Given the description of an element on the screen output the (x, y) to click on. 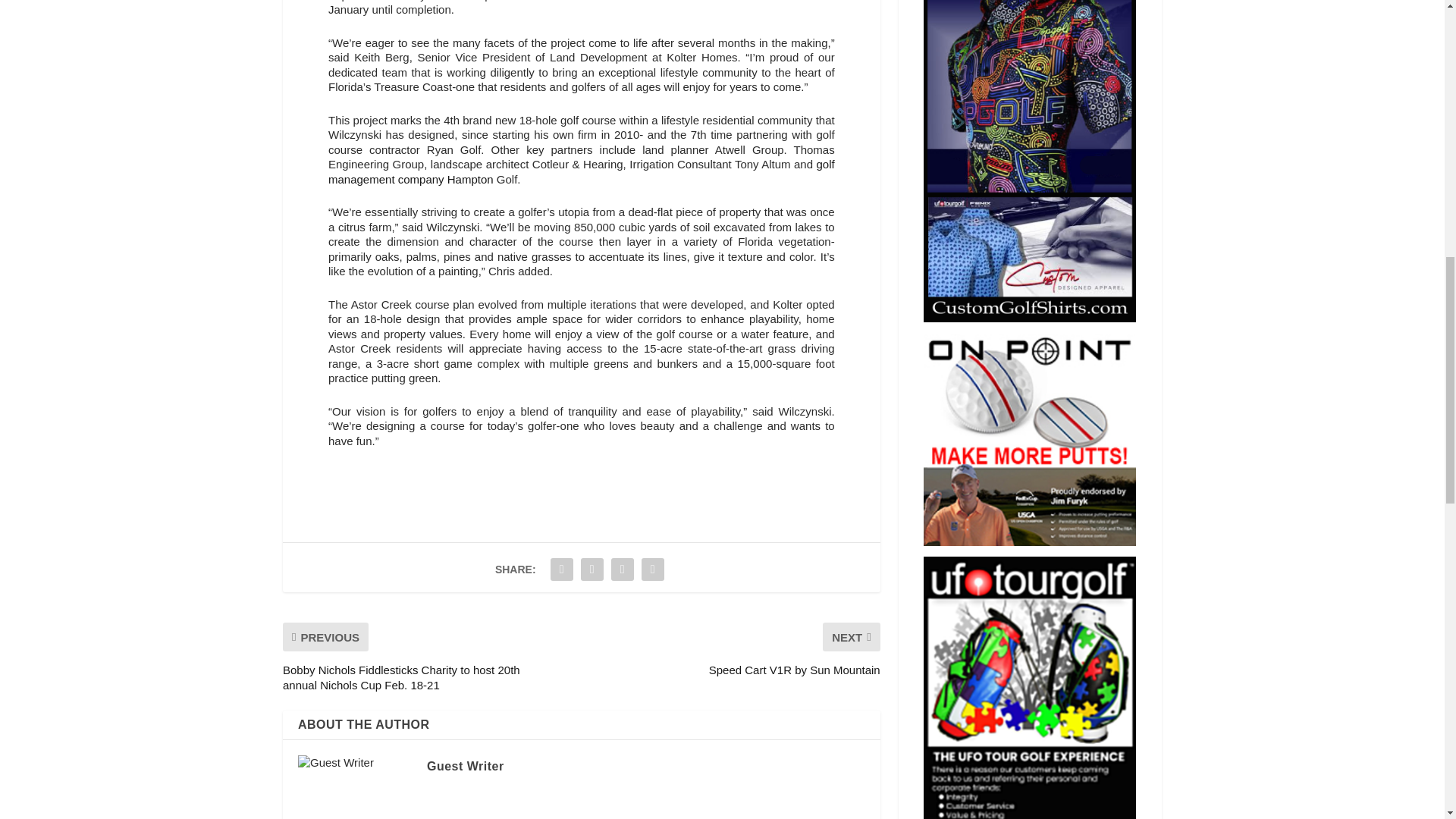
Guest Writer (464, 766)
golf management company Hampton (581, 171)
View all posts by Guest Writer (464, 766)
